Given the description of an element on the screen output the (x, y) to click on. 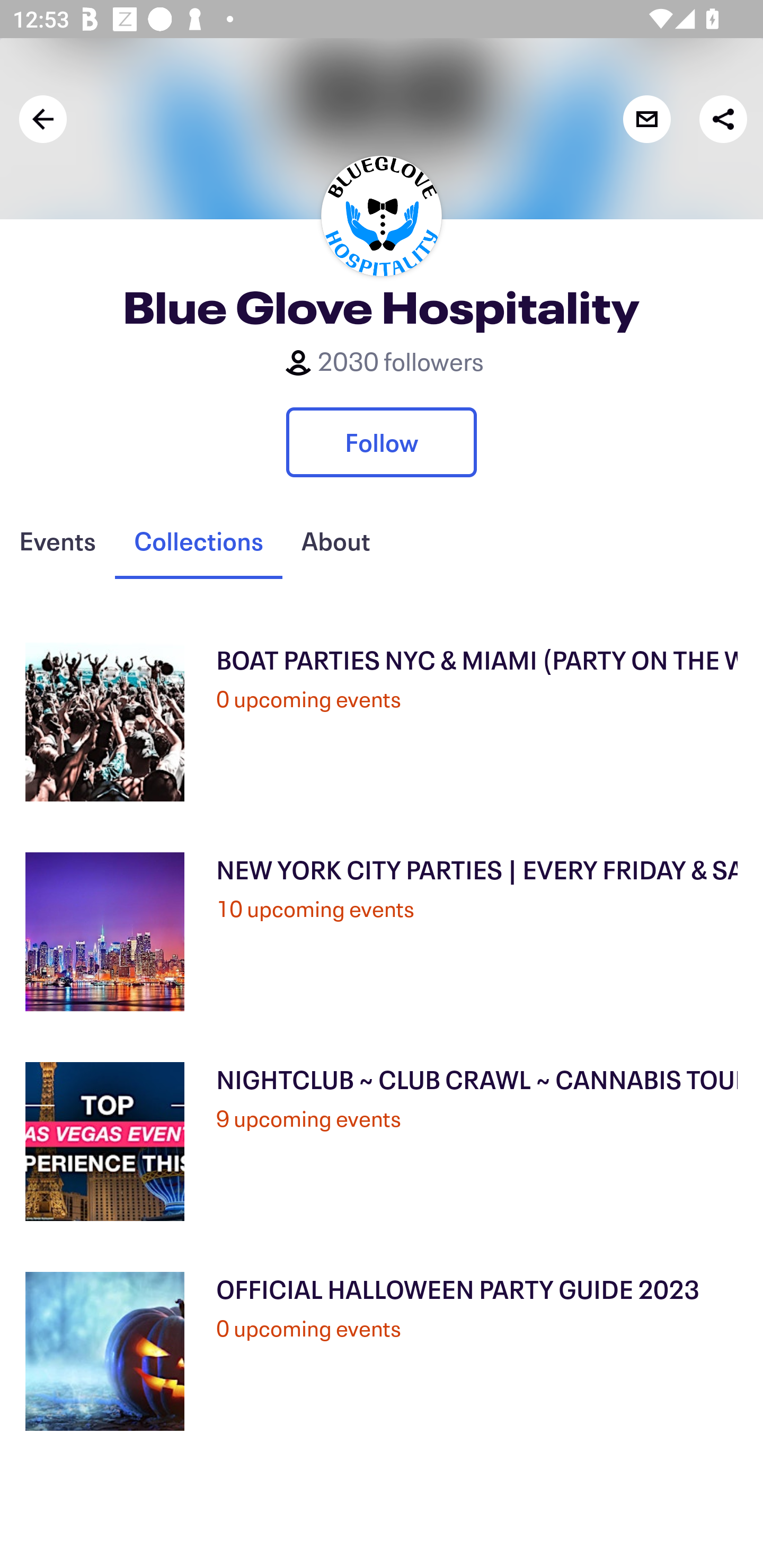
Back navigation arrow (43, 118)
Contact organizer (646, 118)
Share with friends (722, 118)
Follow (381, 441)
Events (57, 540)
About (335, 540)
